Given the description of an element on the screen output the (x, y) to click on. 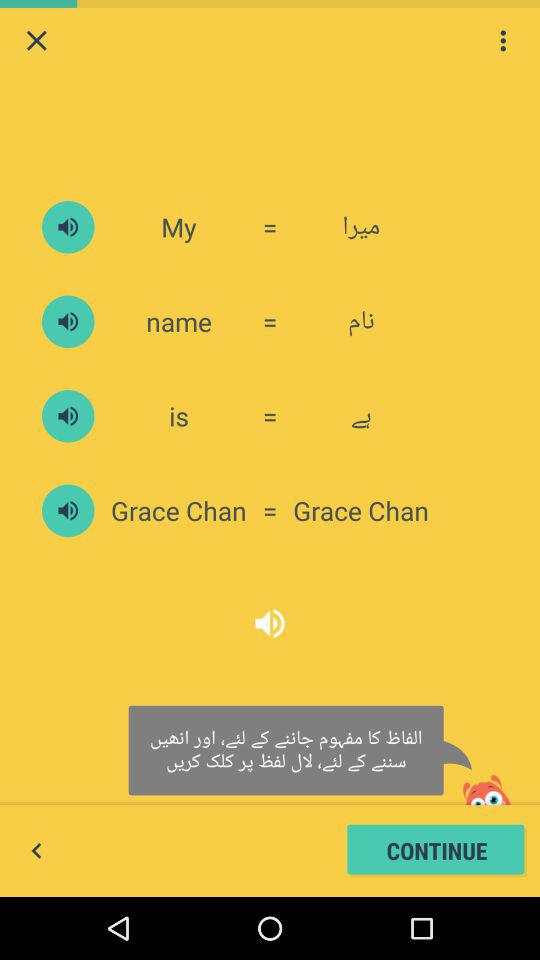
click on volume icon which is on the left side of is (68, 415)
select the image which is above continue button on page (486, 783)
click on the volume icon which is left side to the text name (68, 321)
